Given the description of an element on the screen output the (x, y) to click on. 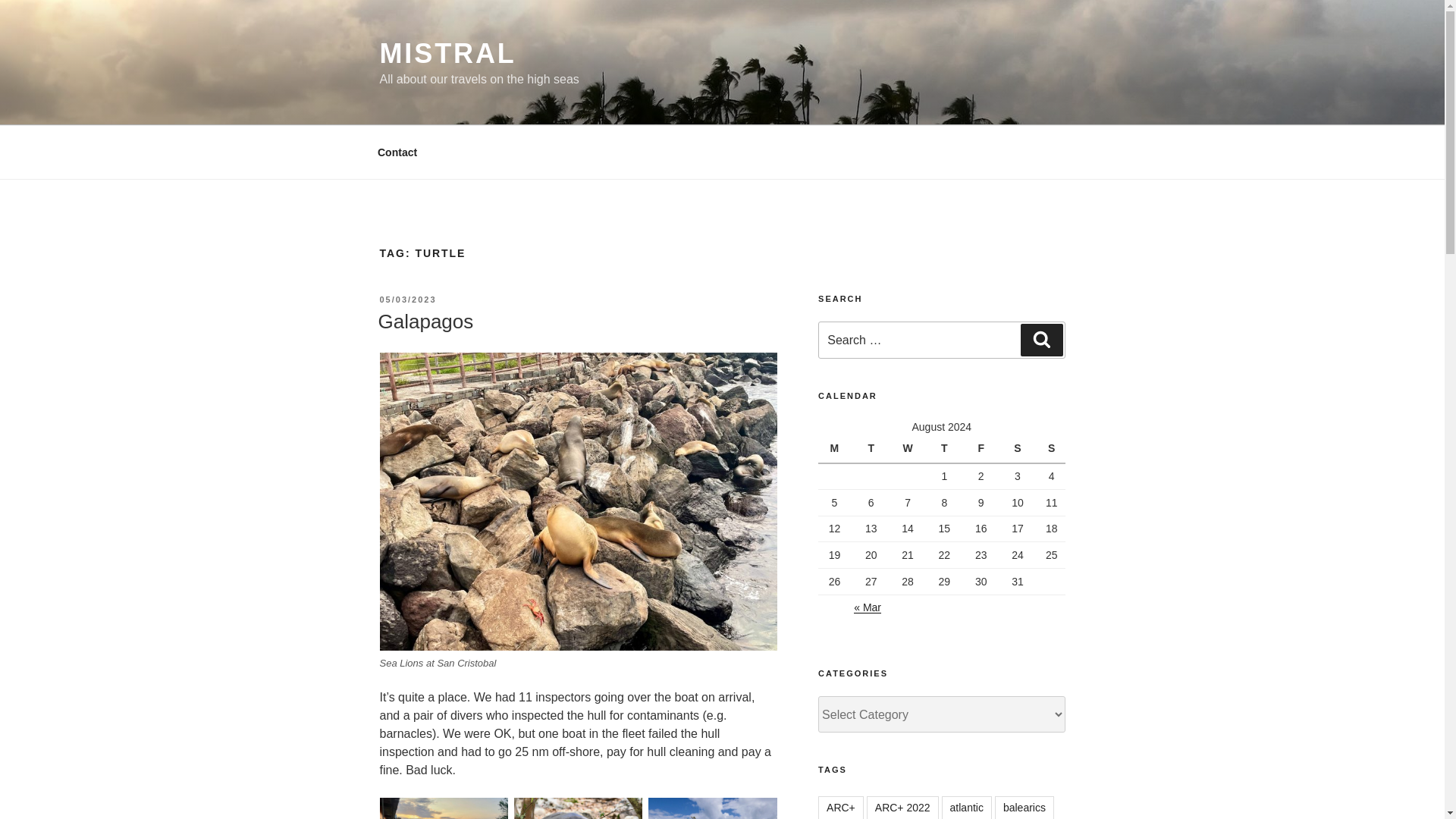
atlantic (966, 807)
Sunday (1051, 449)
Friday (982, 449)
Search (1041, 339)
Wednesday (909, 449)
Contact (396, 151)
Monday (836, 449)
Thursday (945, 449)
Galapagos (425, 321)
Tuesday (872, 449)
